Given the description of an element on the screen output the (x, y) to click on. 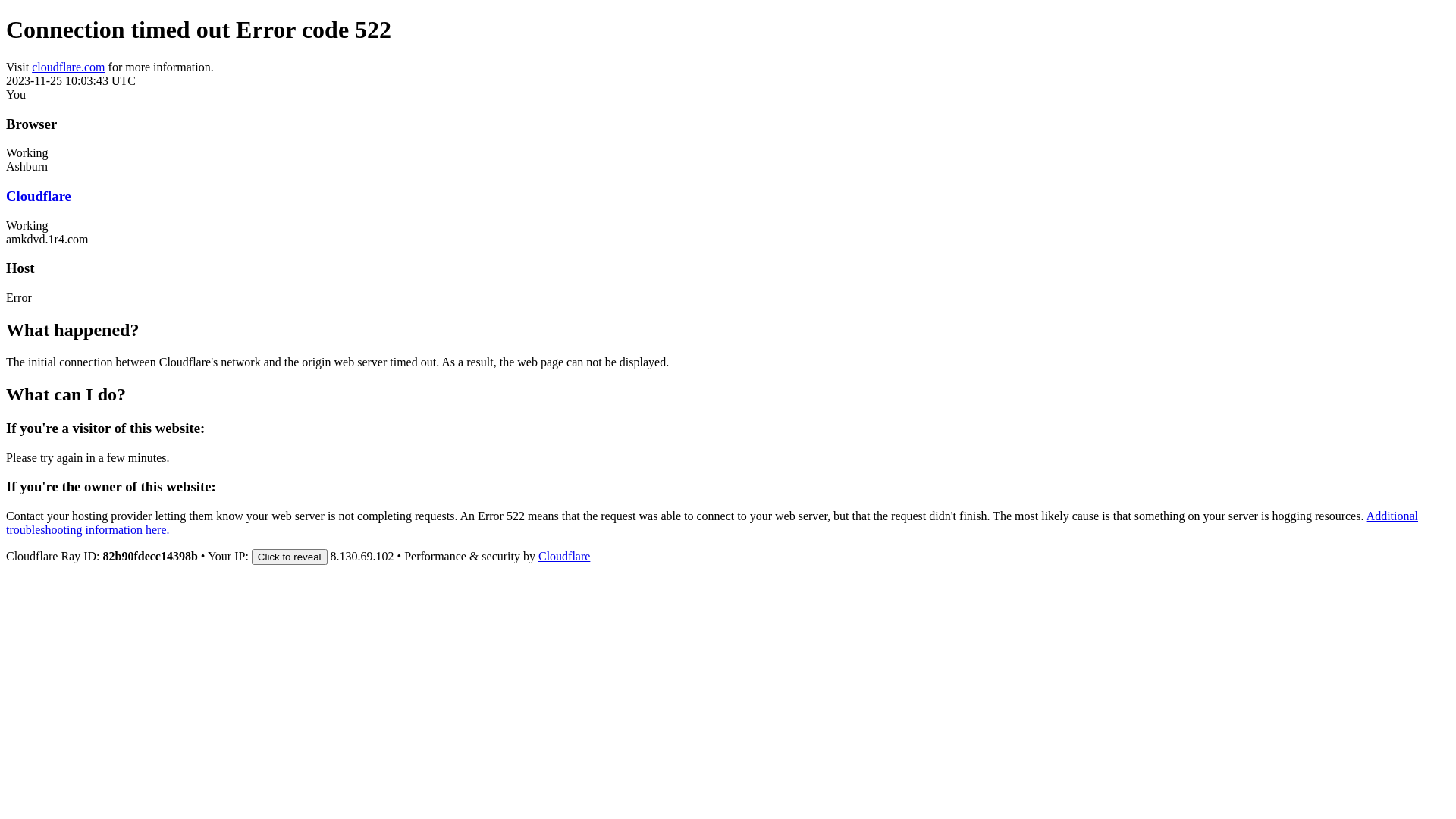
cloudflare.com Element type: text (67, 66)
Cloudflare Element type: text (38, 195)
Cloudflare Element type: text (563, 555)
Click to reveal Element type: text (289, 556)
Additional troubleshooting information here. Element type: text (712, 522)
